Given the description of an element on the screen output the (x, y) to click on. 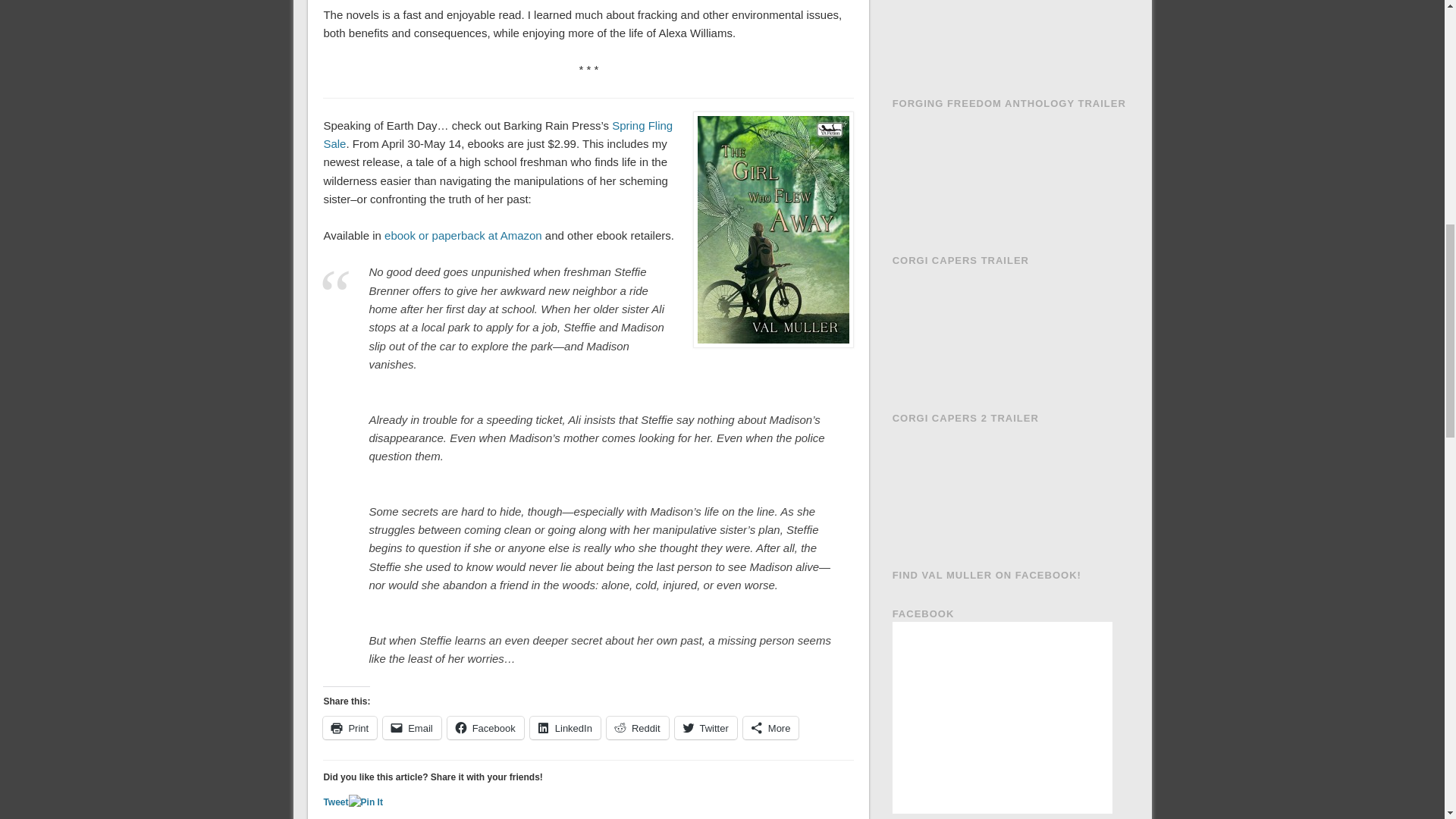
Click to print (350, 726)
Twitter (705, 726)
Tweet (335, 801)
Email (411, 726)
Facebook Members WordPress Plugin (962, 817)
ebook or paperback at Amazon (462, 235)
Spring Fling Sale (497, 133)
Pin It (365, 802)
Print (350, 726)
Click to share on LinkedIn (564, 726)
